Given the description of an element on the screen output the (x, y) to click on. 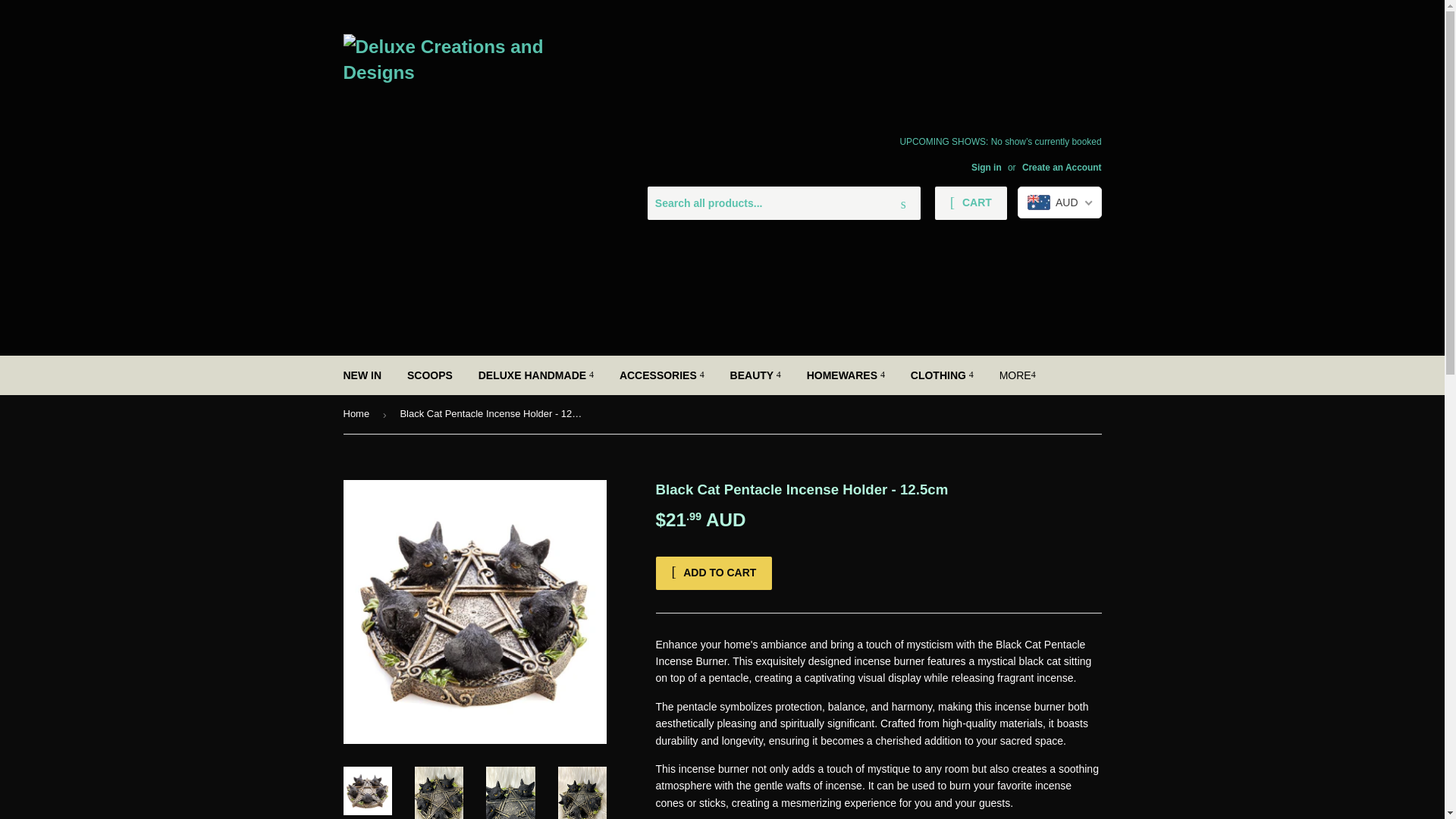
Create an Account (1062, 167)
CART (970, 203)
Back to the frontpage (358, 414)
Sign in (986, 167)
Search (903, 204)
